Given the description of an element on the screen output the (x, y) to click on. 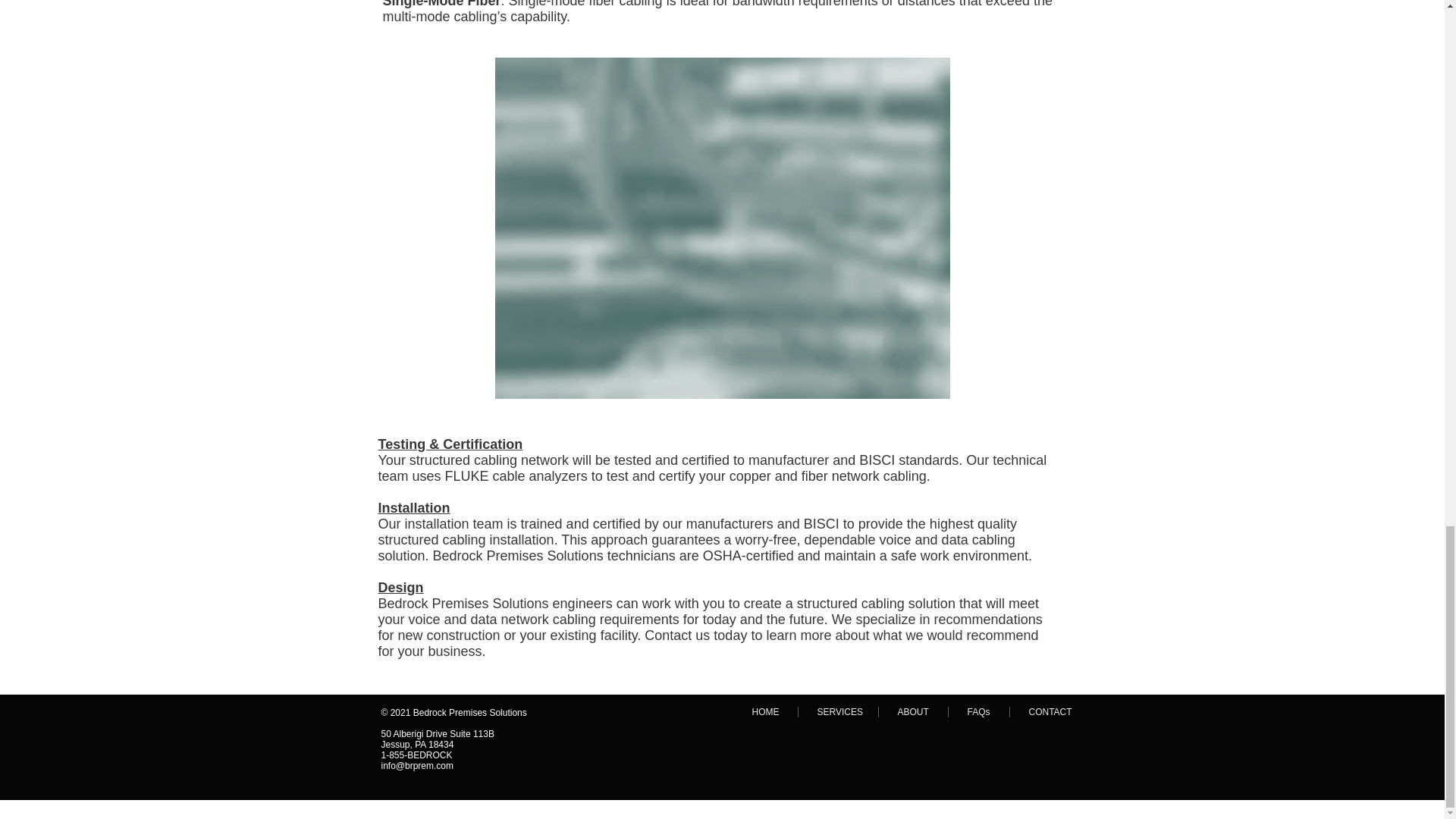
CONTACT (1050, 711)
FAQs (978, 711)
ABOUT (912, 711)
HOME (764, 711)
